Given the description of an element on the screen output the (x, y) to click on. 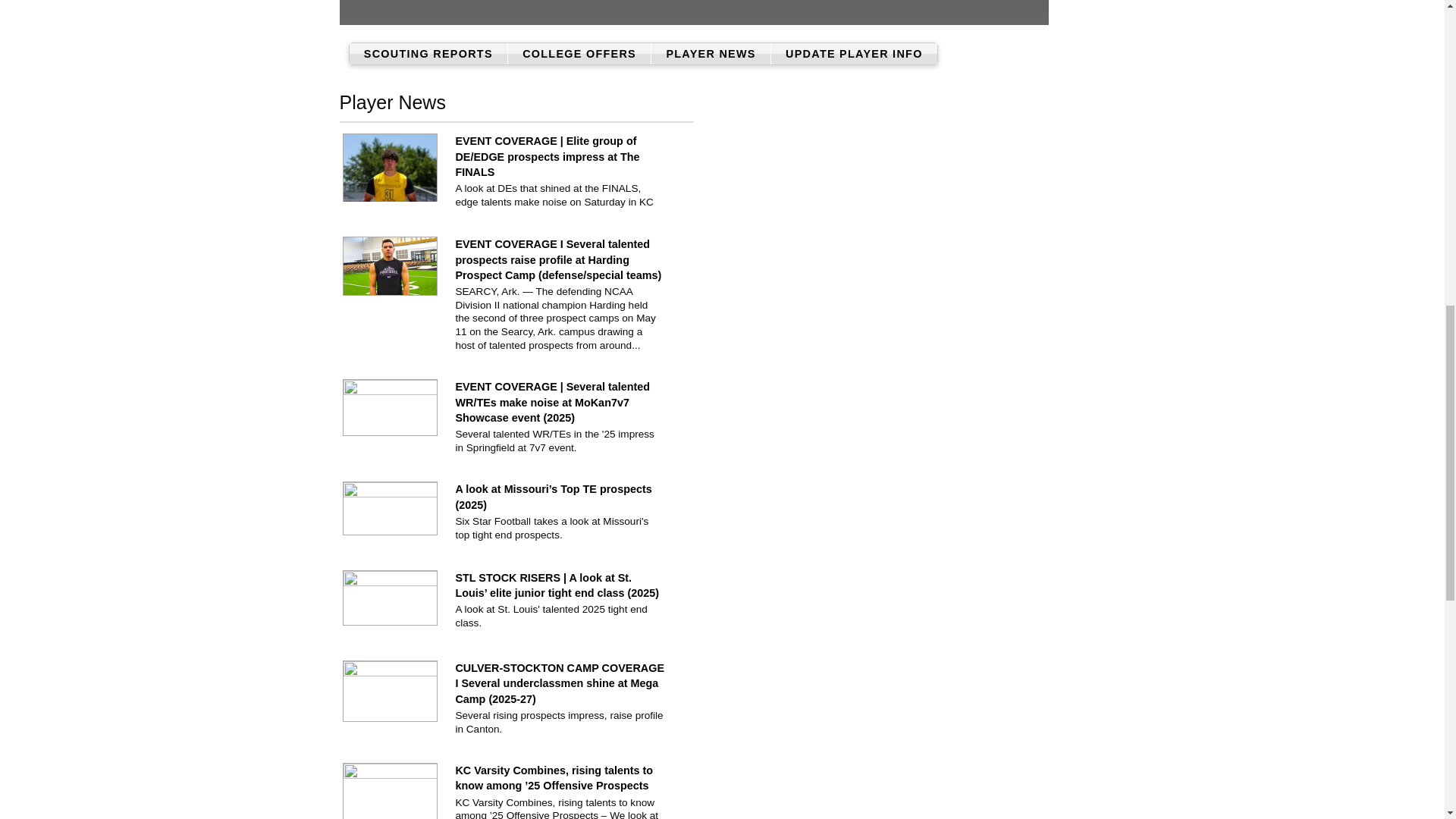
Update Player Info (853, 53)
Player News (710, 53)
Scouting Reports (428, 53)
College Offers (579, 53)
